Given the description of an element on the screen output the (x, y) to click on. 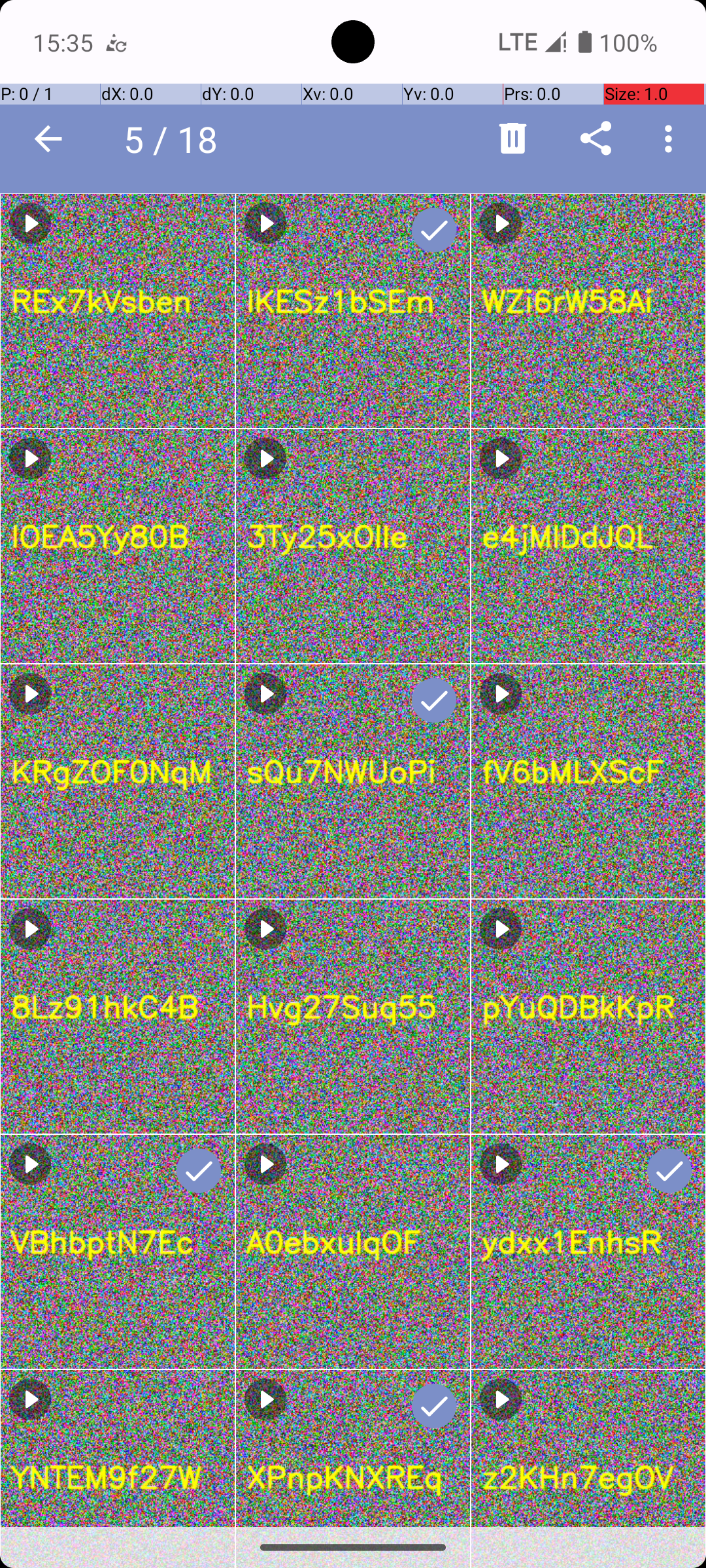
5 / 18 Element type: android.widget.TextView (177, 138)
Search in VLCVideos Element type: android.widget.EditText (252, 138)
